Given the description of an element on the screen output the (x, y) to click on. 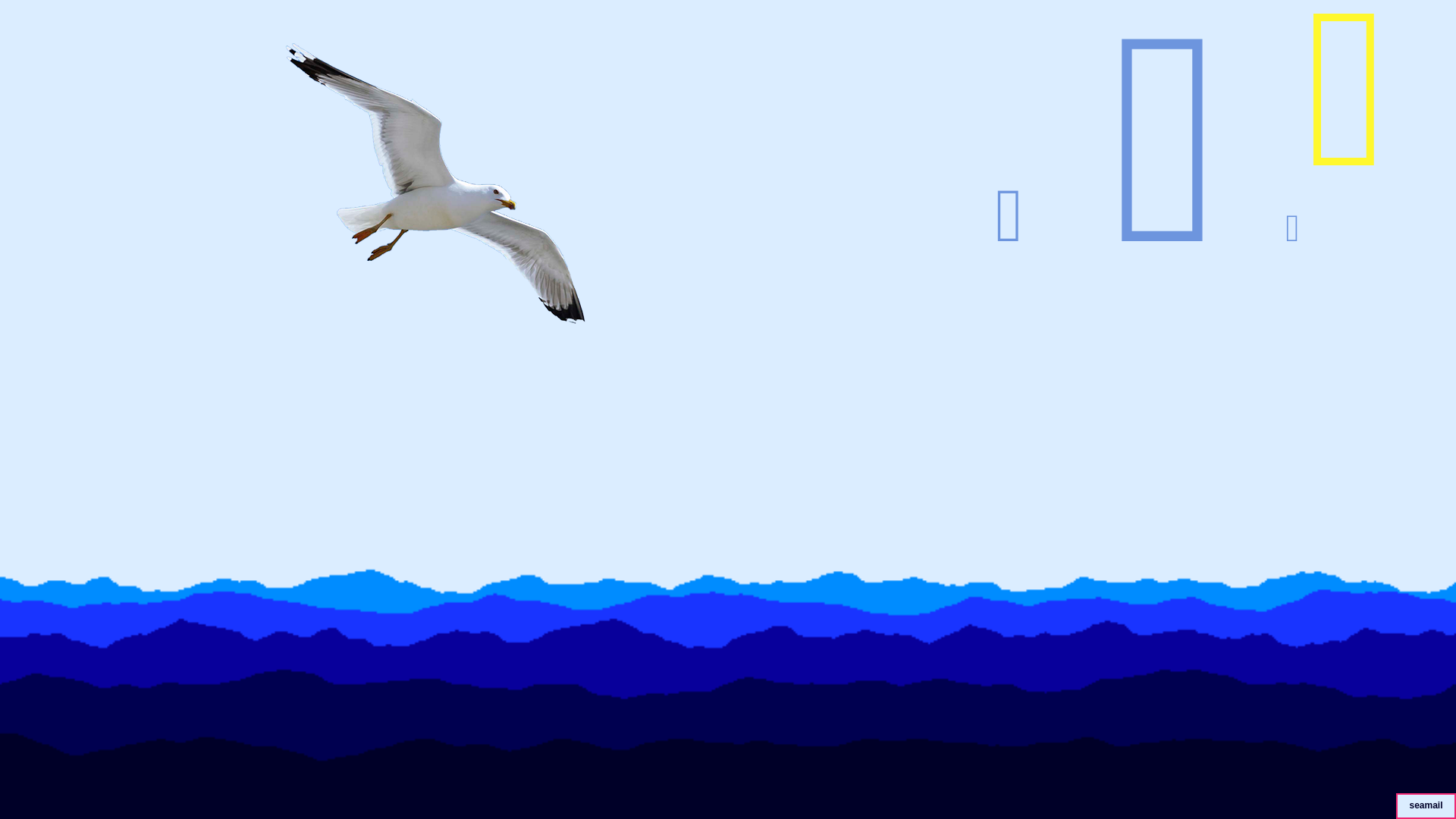
seamail Element type: text (1425, 803)
